Given the description of an element on the screen output the (x, y) to click on. 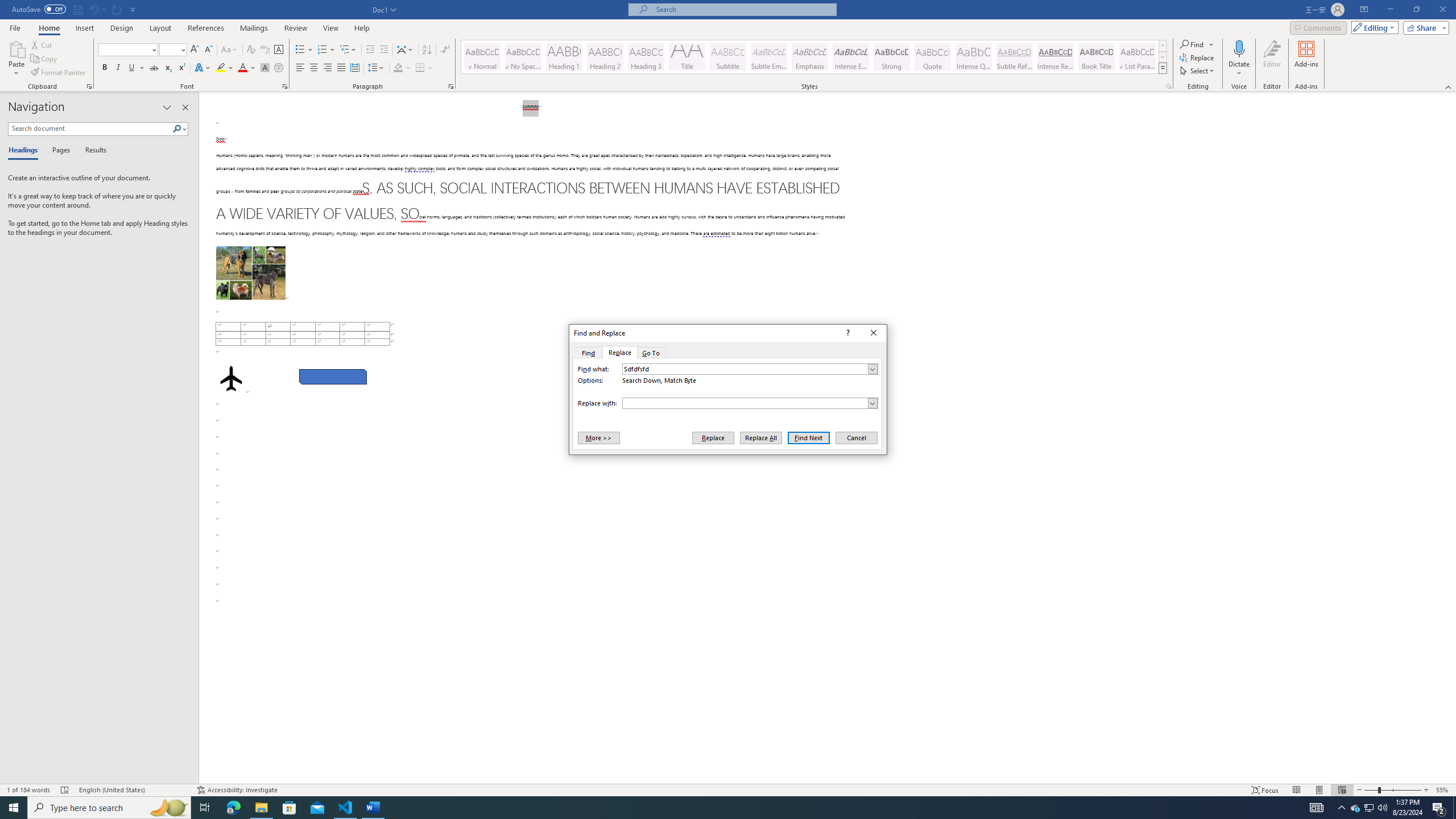
Heading 2 (605, 56)
Justify (340, 67)
Pages (59, 150)
Running applications (717, 807)
Increase Indent (383, 49)
Intense Reference (1055, 56)
Enclose Characters... (278, 67)
Asian Layout (405, 49)
RichEdit Control (745, 403)
Text Highlight Color (224, 67)
